Given the description of an element on the screen output the (x, y) to click on. 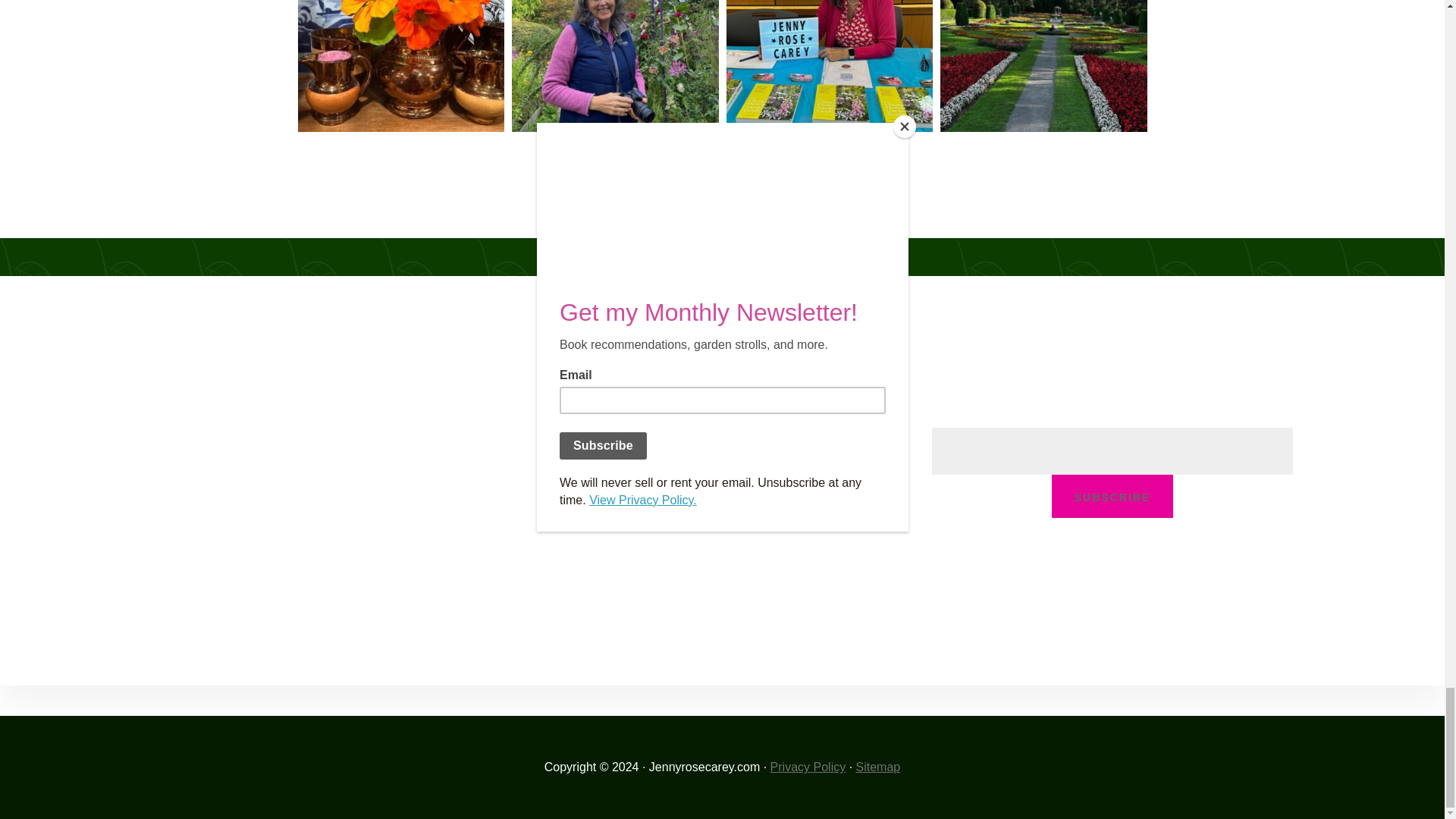
Subscribe (1112, 496)
